Given the description of an element on the screen output the (x, y) to click on. 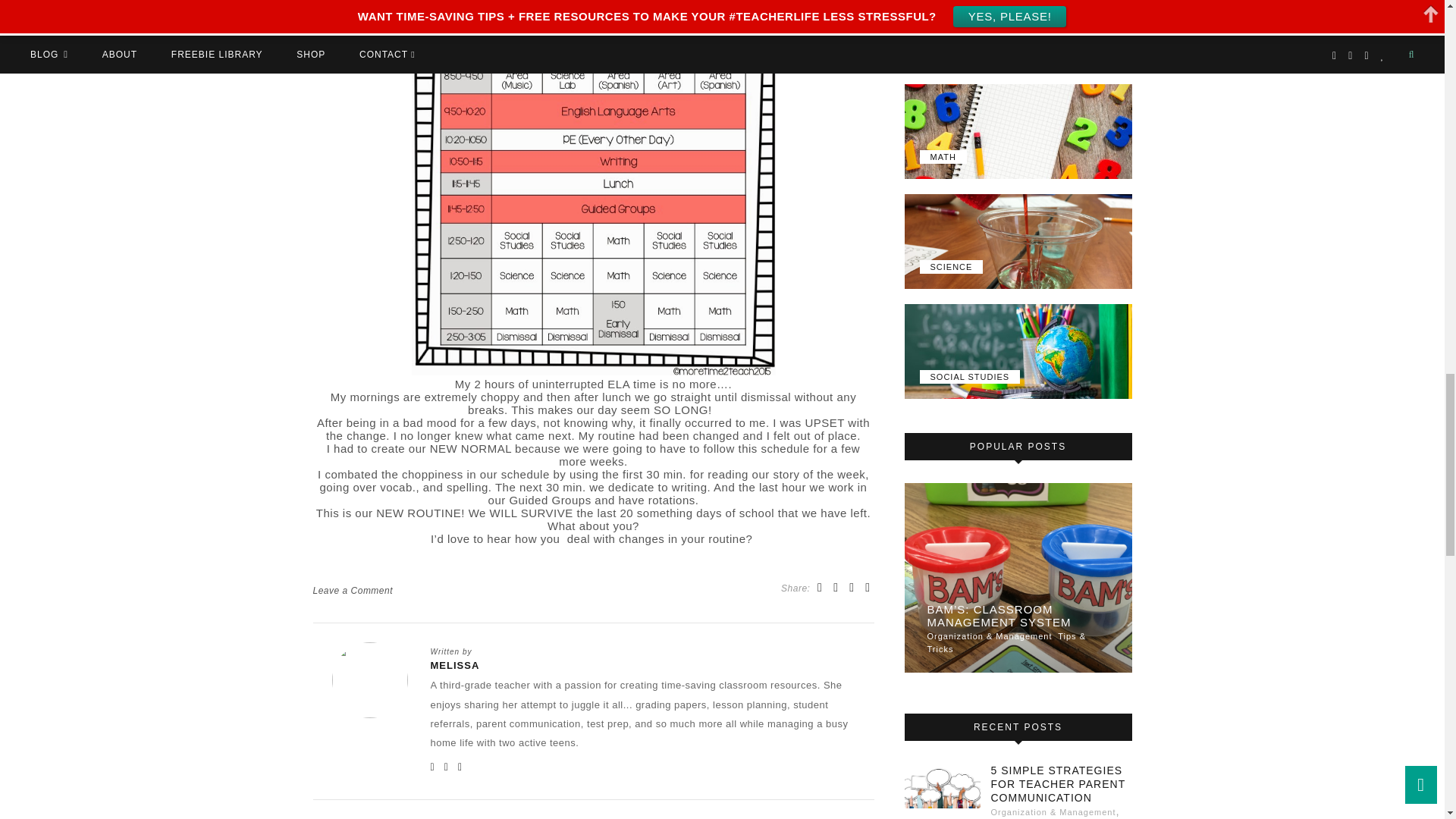
Posts by Melissa (643, 665)
Leave a Comment (353, 590)
MELISSA (643, 665)
